Given the description of an element on the screen output the (x, y) to click on. 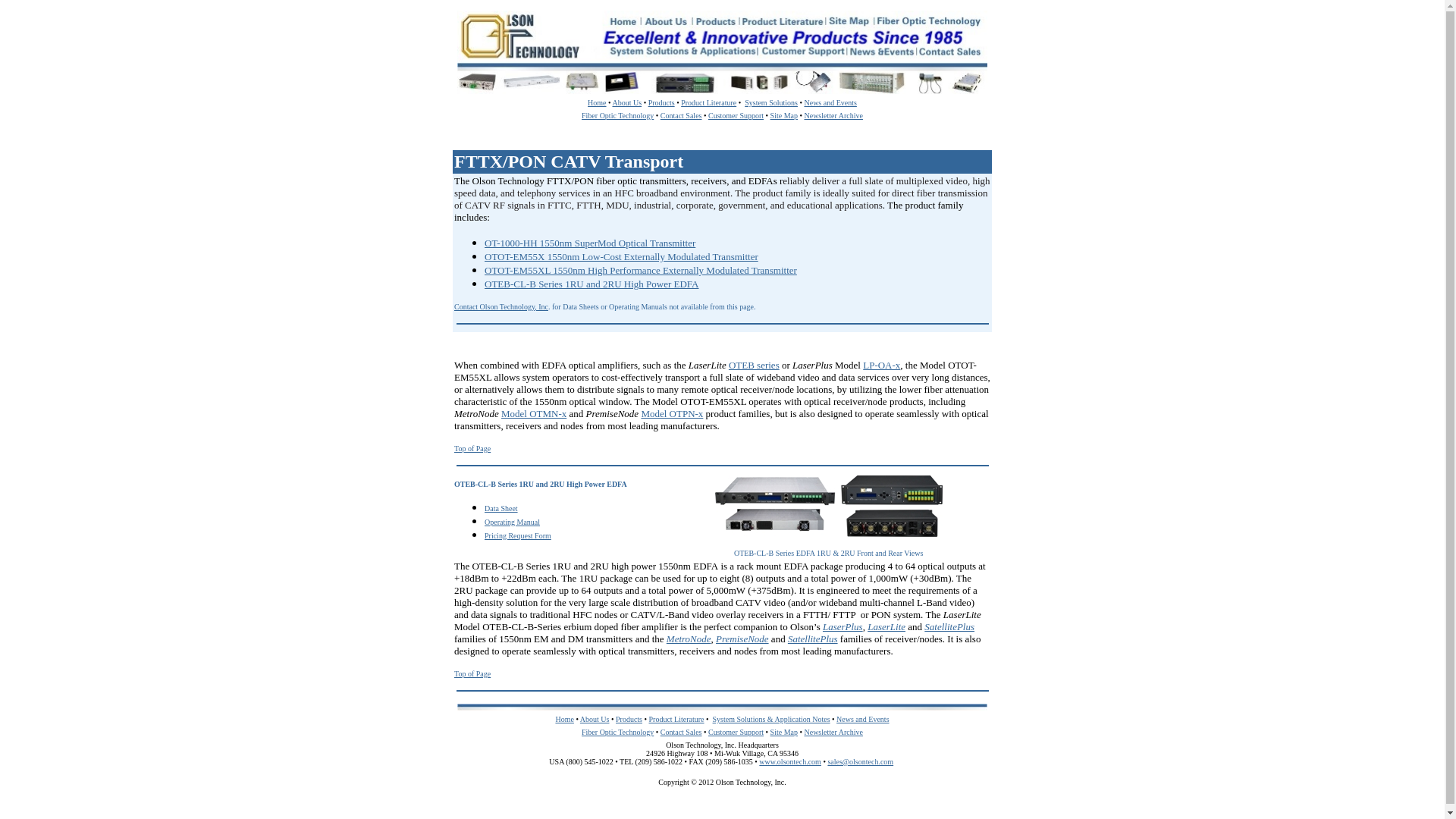
News and Events (861, 718)
OTEB-CL-B Series 1RU and 2RU High Power EDFA (591, 283)
Fiber Optic Technology (616, 115)
Contact Olson Technology, Inc (501, 306)
Product Literature (708, 102)
Newsletter Archive (832, 115)
PremiseNode (742, 638)
OTOT-EM55X 1550nm Low-Cost Externally Modulated Transmitter (621, 256)
OT-1000-HH 1550nm SuperMod Optical Transmitter (589, 242)
SatellitePlus (949, 626)
